Given the description of an element on the screen output the (x, y) to click on. 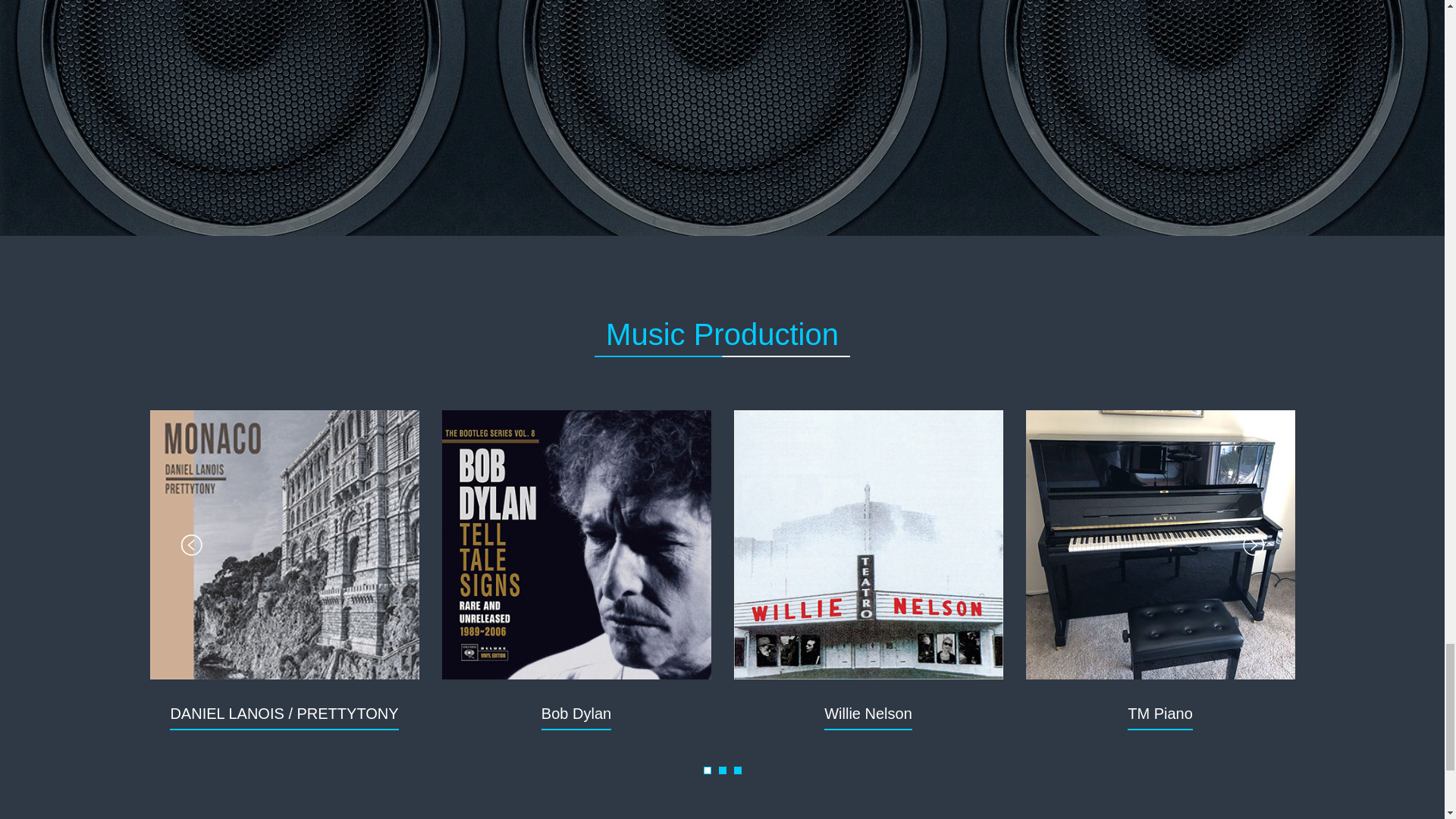
Music Production (721, 333)
